Given the description of an element on the screen output the (x, y) to click on. 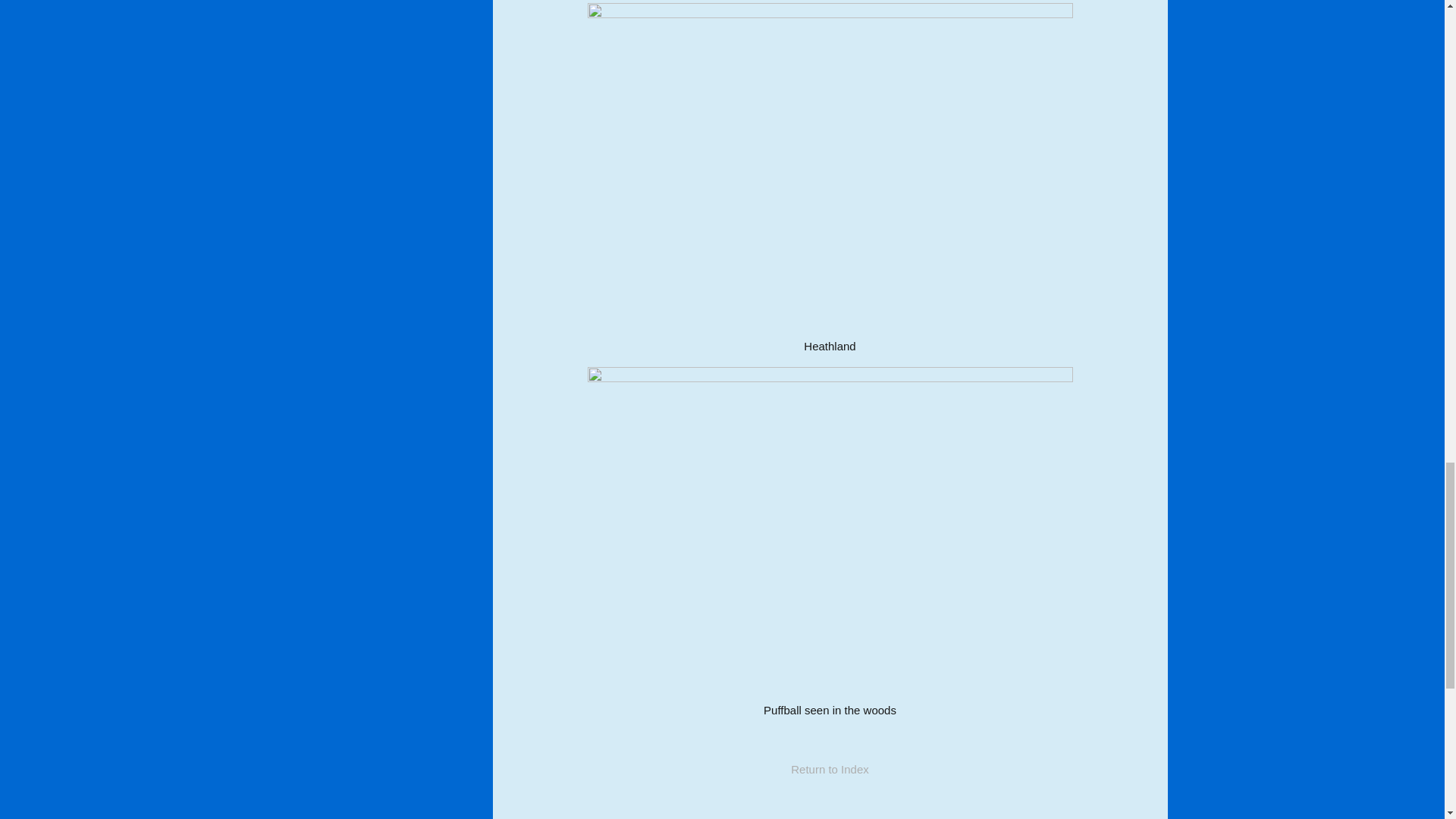
Return to Index (829, 768)
